Given the description of an element on the screen output the (x, y) to click on. 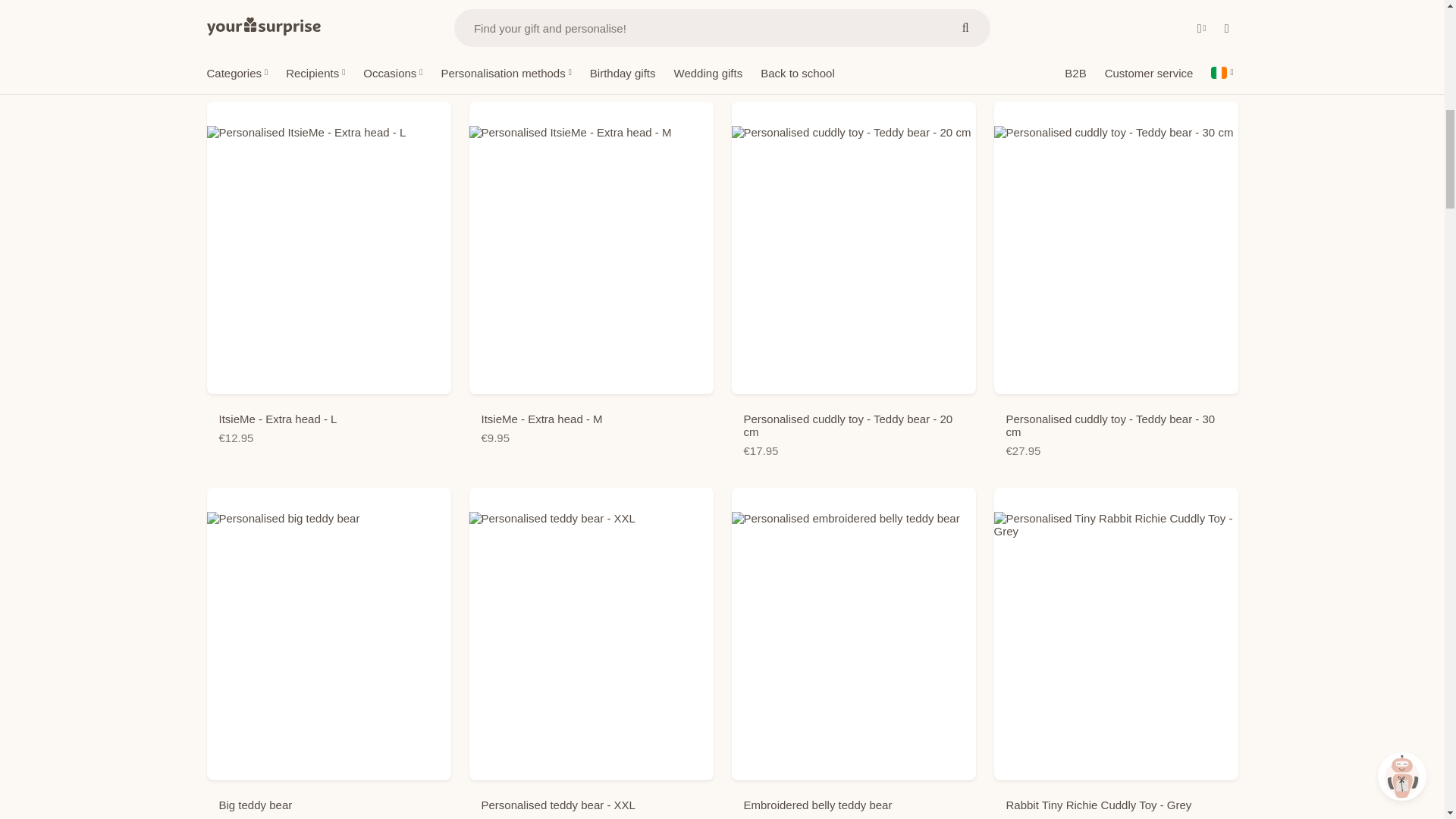
ItsieMe - Bunny (327, 35)
ItsieMe - Bunny - L (852, 35)
ItsieMe - Extra head - XL (1114, 35)
ItsieMe - Bunny - XL (590, 35)
